Given the description of an element on the screen output the (x, y) to click on. 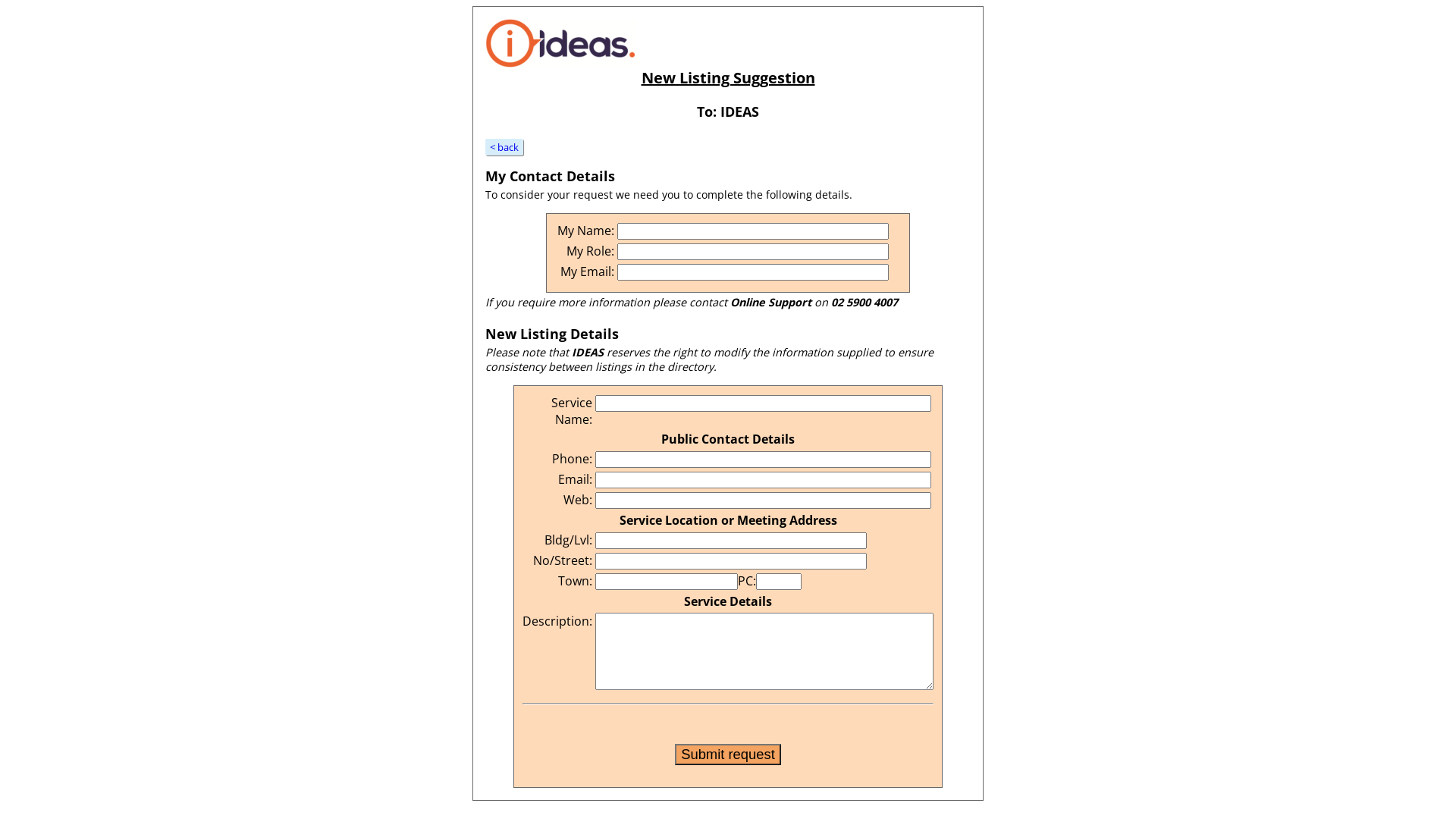
Submit request Element type: text (727, 754)
< back Element type: text (504, 146)
